Given the description of an element on the screen output the (x, y) to click on. 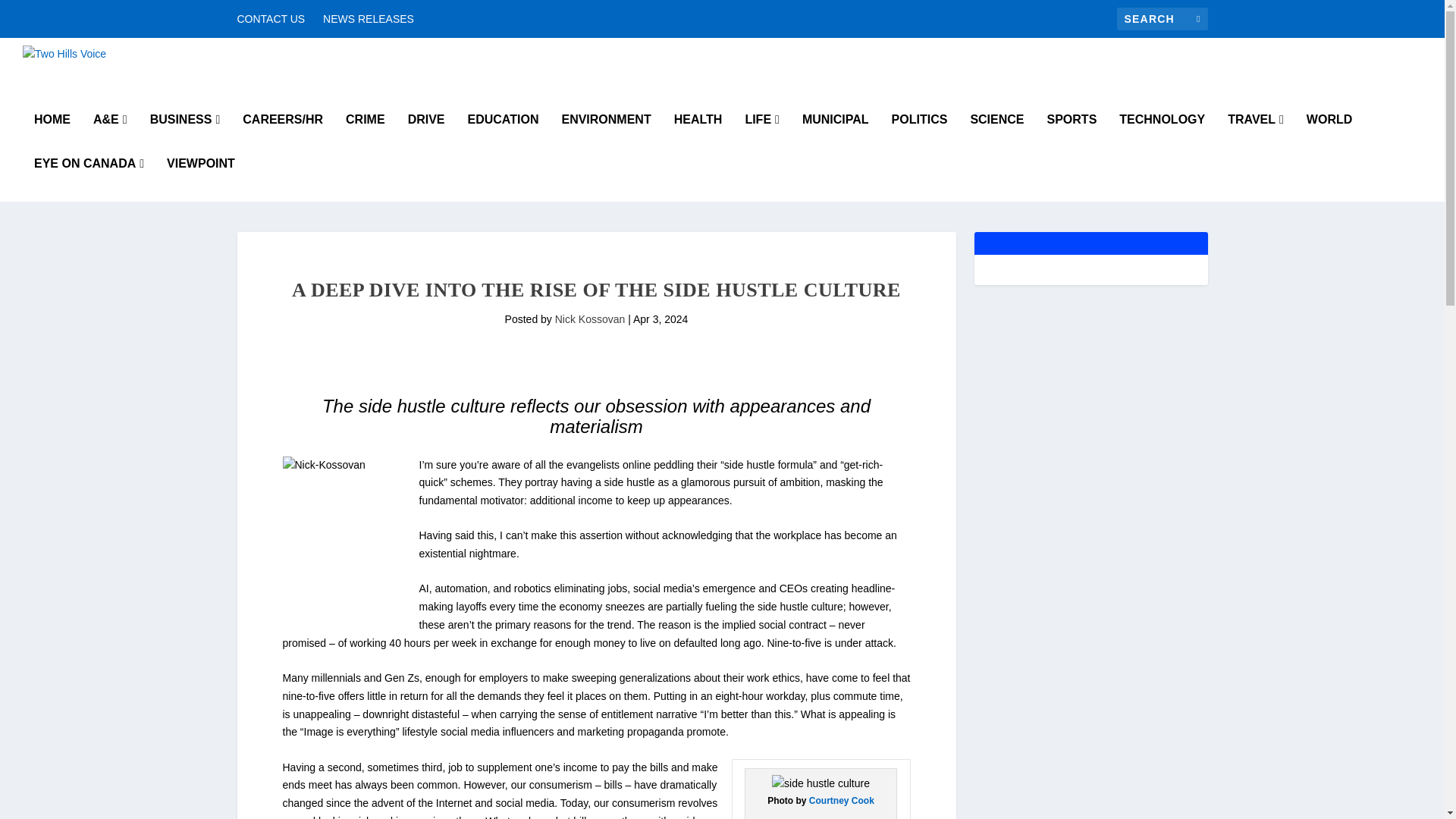
Pottery-ceramics - Two Hills Voice (820, 783)
TRAVEL (1255, 135)
EDUCATION (502, 135)
ENVIRONMENT (605, 135)
Posts by Nick Kossovan (590, 318)
TECHNOLOGY (1162, 135)
WORLD (1329, 135)
EYE ON CANADA (88, 179)
BUSINESS (185, 135)
HEALTH (698, 135)
Search for: (1161, 18)
SCIENCE (996, 135)
CONTACT US (269, 18)
NEWS RELEASES (368, 18)
CRIME (365, 135)
